Given the description of an element on the screen output the (x, y) to click on. 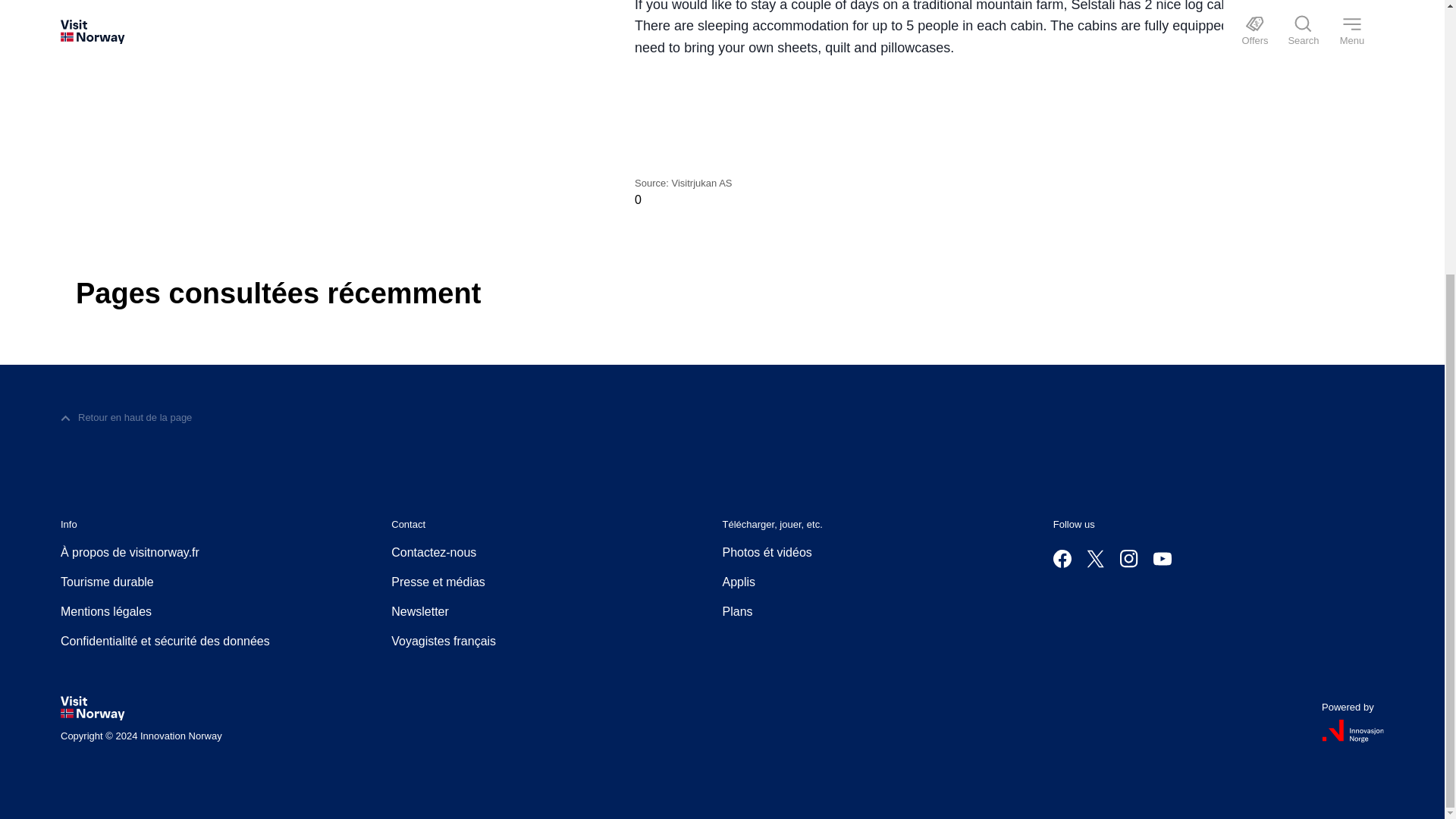
Retour en haut de la page (126, 417)
Plans (737, 611)
Tourisme durable (107, 582)
Contactez-nous (433, 552)
Applis (738, 582)
Newsletter (419, 611)
